Given the description of an element on the screen output the (x, y) to click on. 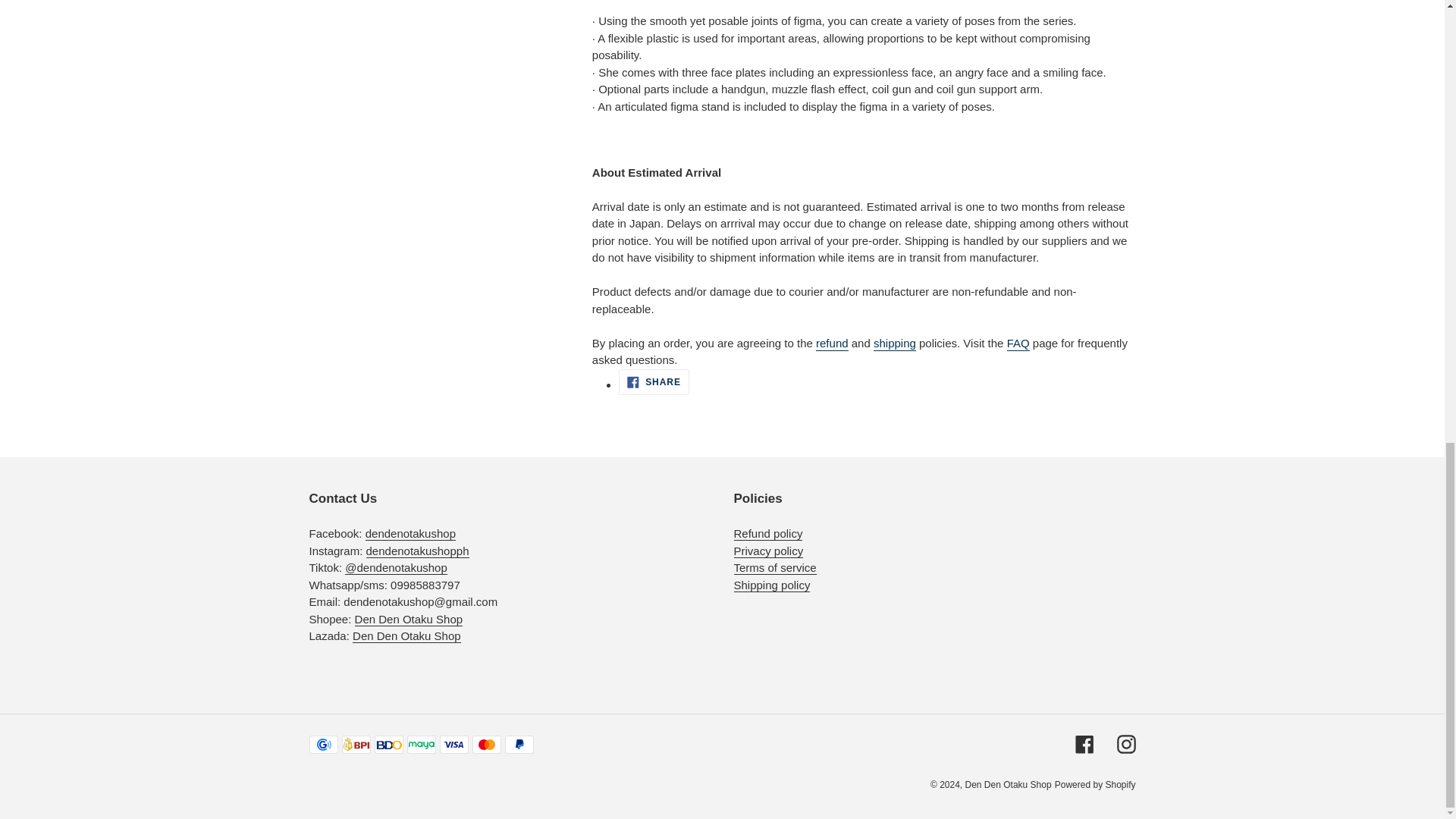
Privacy Policy (768, 550)
Refund Policy (768, 533)
Terms of Service (774, 567)
Shipping Policy (771, 585)
